Given the description of an element on the screen output the (x, y) to click on. 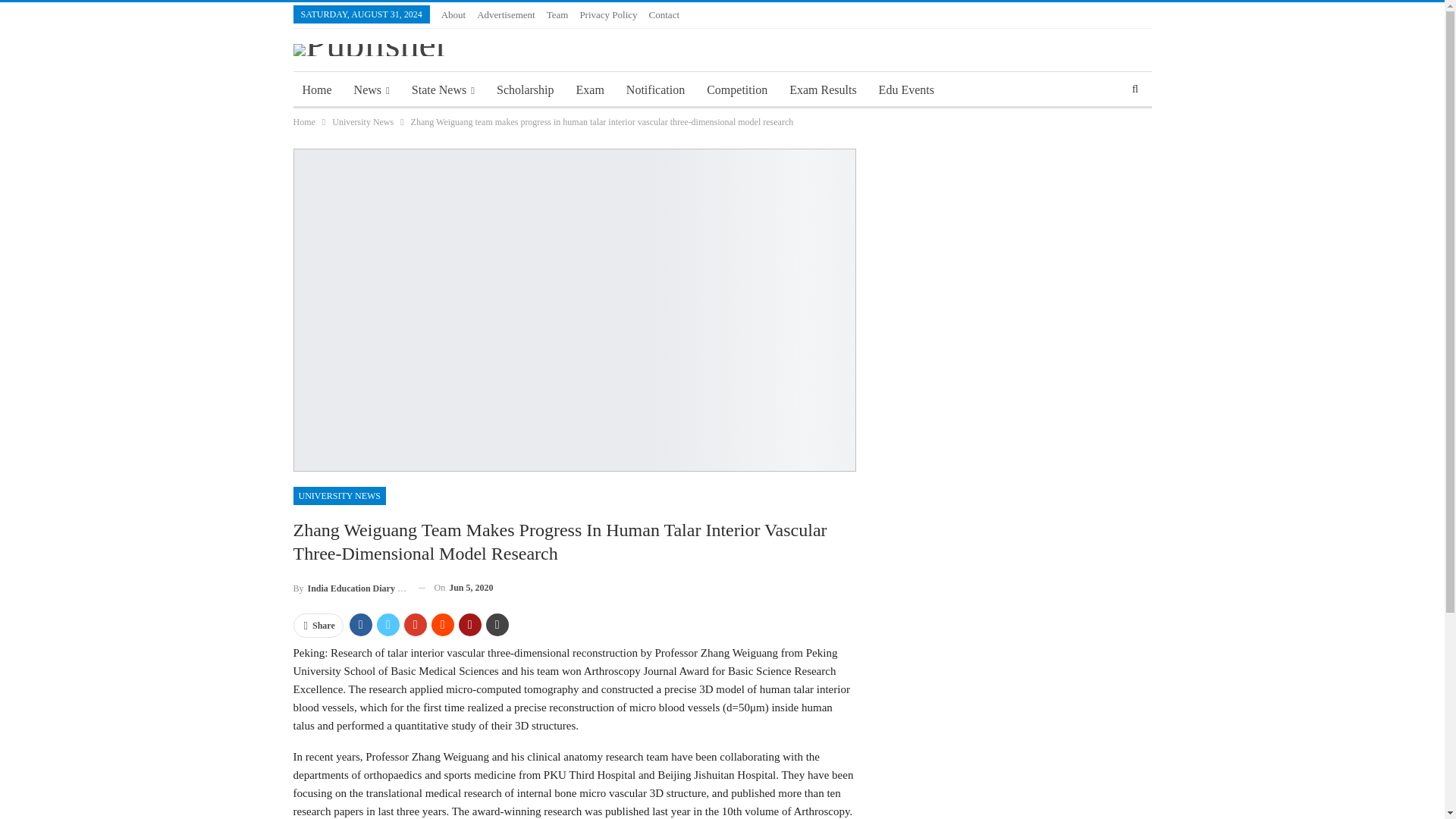
Browse Author Articles (349, 588)
Contact (664, 14)
Home (316, 90)
Team (558, 14)
News (371, 90)
Advertisement (506, 14)
About (453, 14)
Privacy Policy (608, 14)
State News (443, 90)
